Given the description of an element on the screen output the (x, y) to click on. 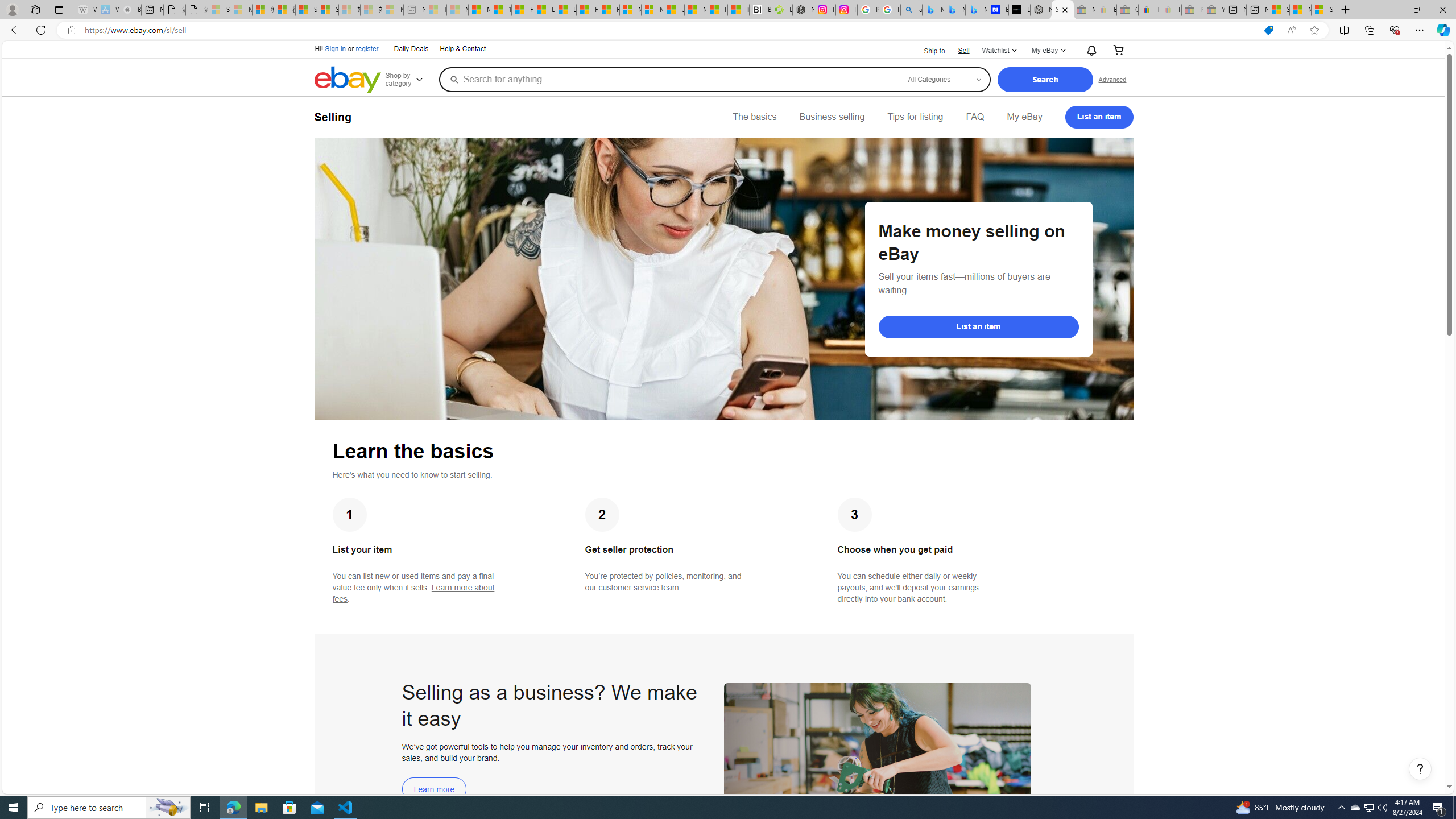
Business selling (831, 116)
Help & Contact (462, 49)
Microsoft account | Account Checkup - Sleeping (392, 9)
Buy iPad - Apple - Sleeping (130, 9)
alabama high school quarterback dies - Search (911, 9)
Microsoft Bing Travel - Shangri-La Hotel Bangkok (975, 9)
Press Room - eBay Inc. - Sleeping (1192, 9)
Learn more (434, 788)
Help, opens dialogs (1420, 768)
Sell (963, 49)
